Given the description of an element on the screen output the (x, y) to click on. 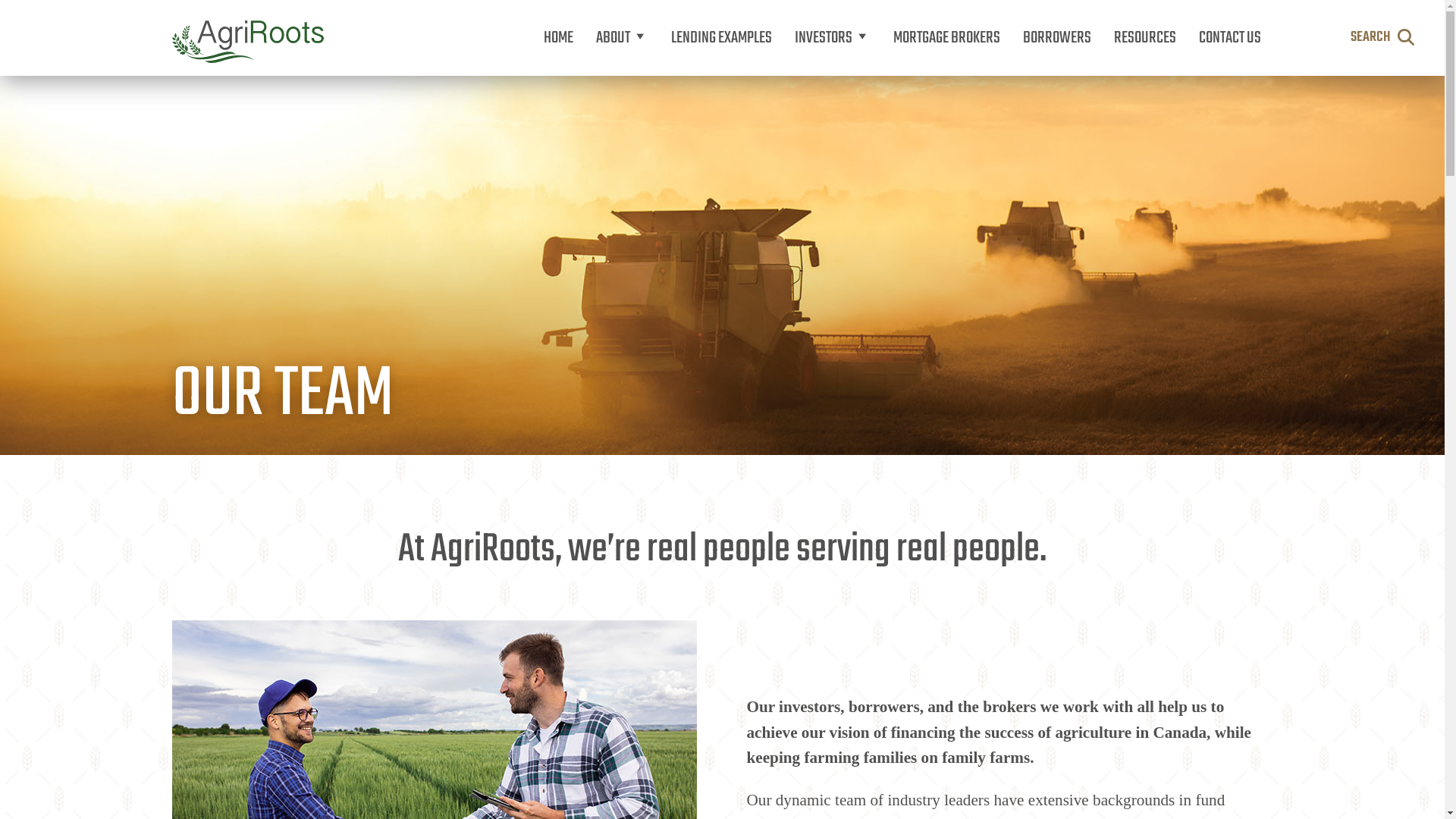
LENDING EXAMPLES Element type: text (721, 37)
RESOURCES Element type: text (1144, 37)
HOME Element type: text (558, 37)
BORROWERS Element type: text (1056, 37)
Search Element type: text (1015, 106)
ABOUT Element type: text (620, 37)
MORTGAGE BROKERS Element type: text (945, 37)
SEARCH Element type: text (1382, 37)
CONTACT US Element type: text (1229, 37)
INVESTORS Element type: text (831, 37)
